Given the description of an element on the screen output the (x, y) to click on. 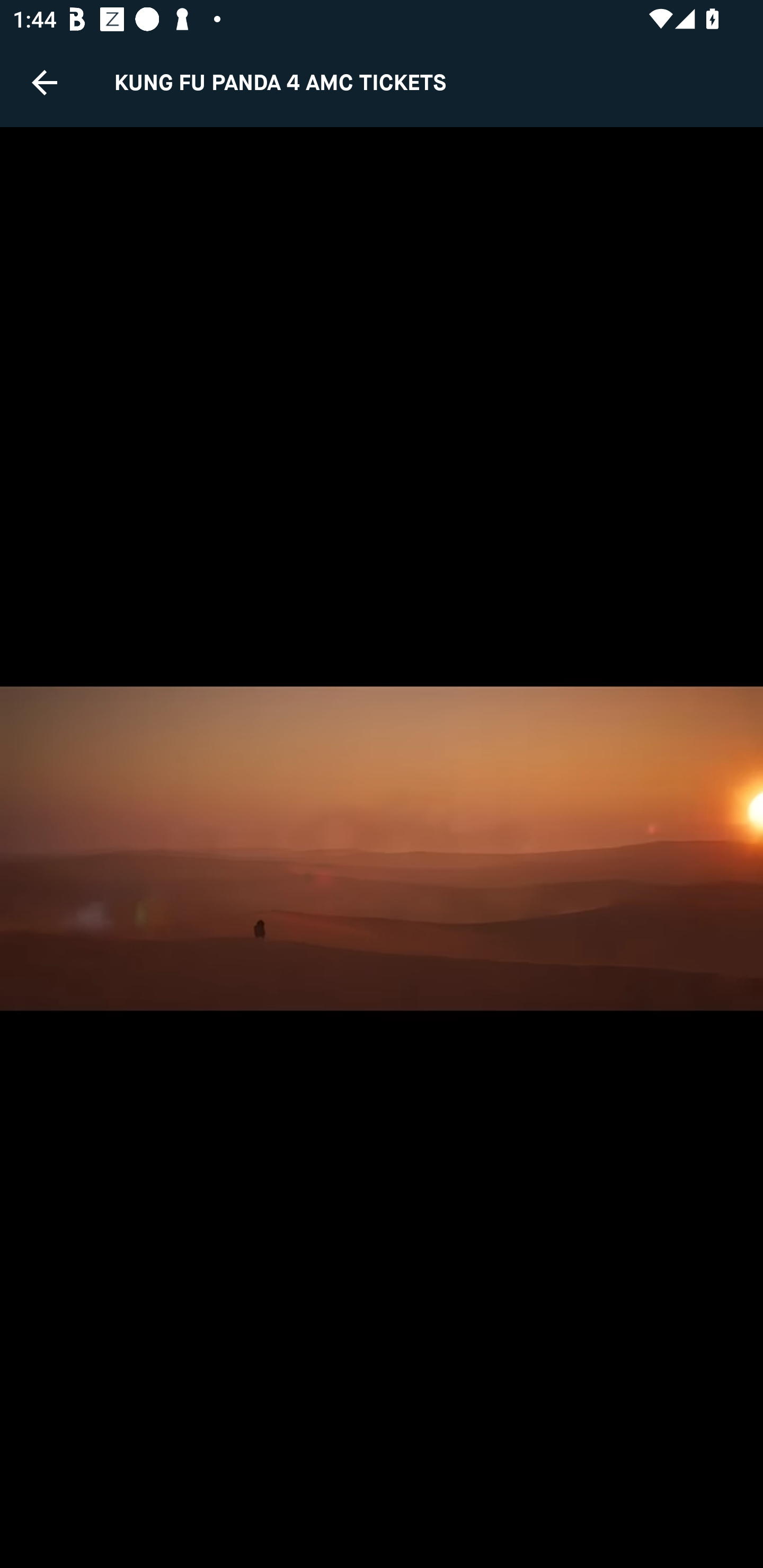
Navigate up (44, 82)
